Given the description of an element on the screen output the (x, y) to click on. 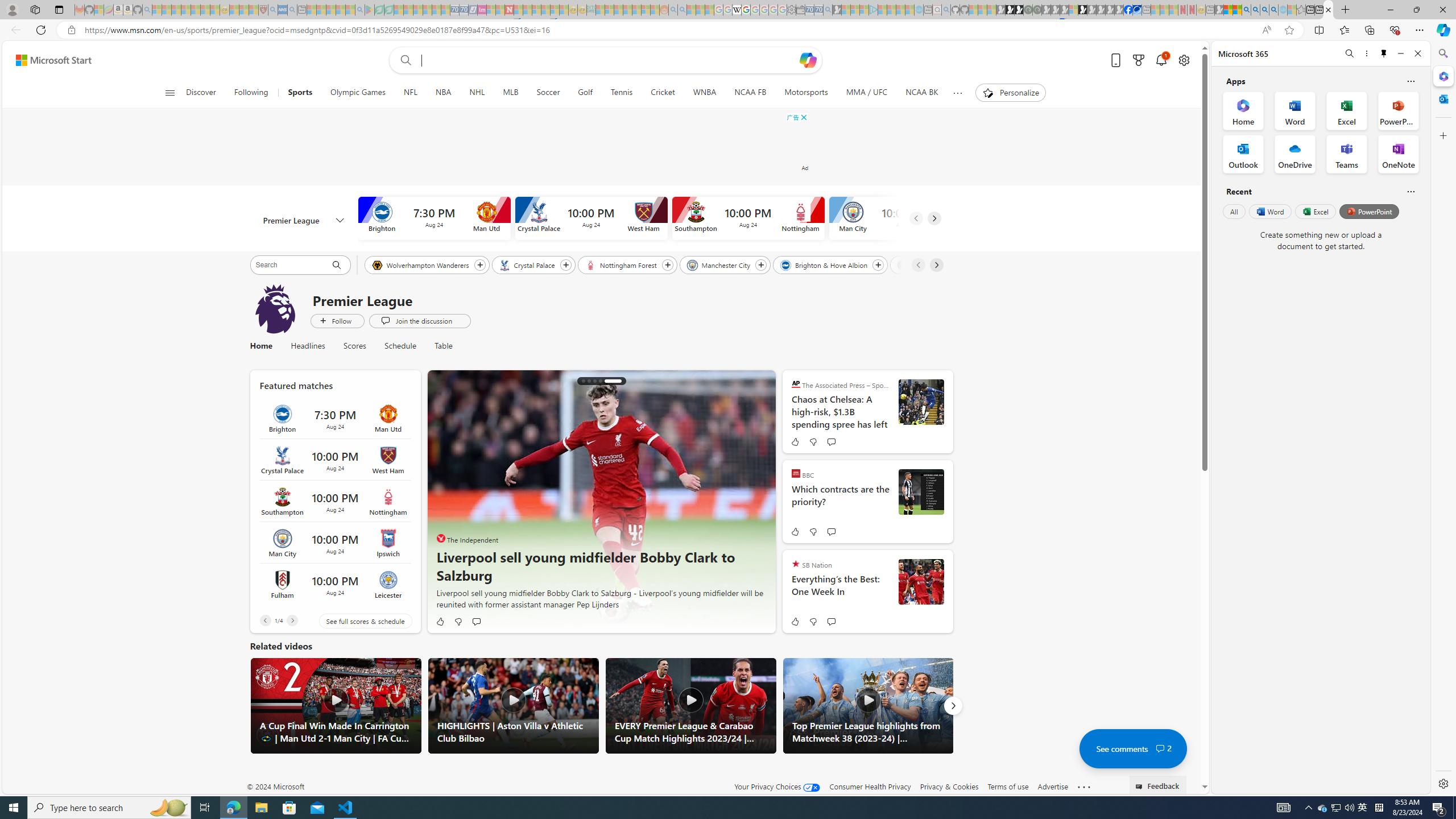
Follow Brighton & Hove Albion (877, 265)
Word (1269, 210)
NCAA FB (750, 92)
Liverpool sell young midfielder Bobby Clark to Salzburg (619, 380)
Tennis (621, 92)
